Given the description of an element on the screen output the (x, y) to click on. 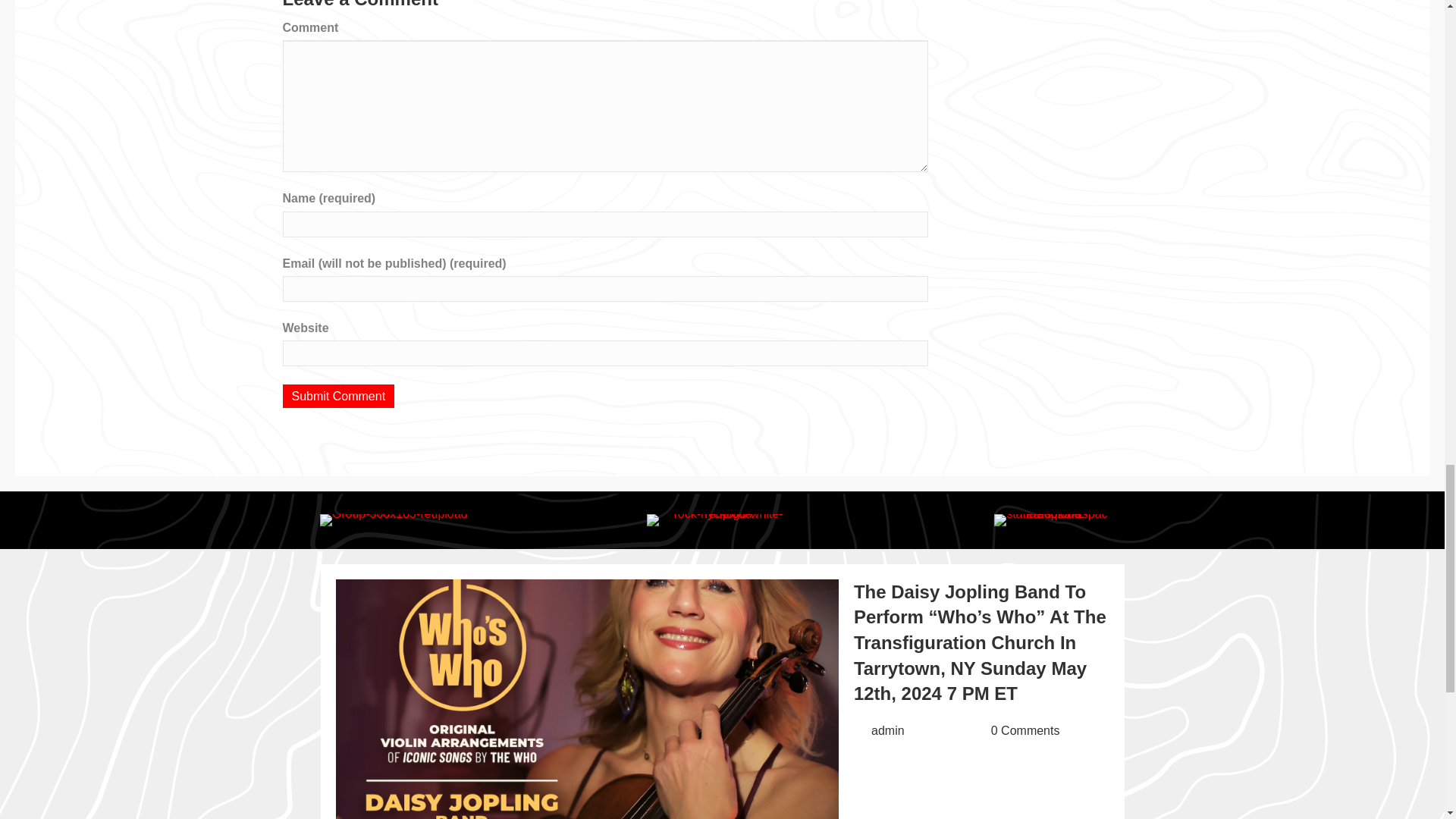
Group-500x103-reupload (393, 520)
static1.squarespace-500x371-reupload (1051, 520)
rock-nyc-logo-white-reupload (721, 520)
Submit Comment (338, 395)
djbwhoswhomay12qr (586, 699)
Submit Comment (338, 395)
